Given the description of an element on the screen output the (x, y) to click on. 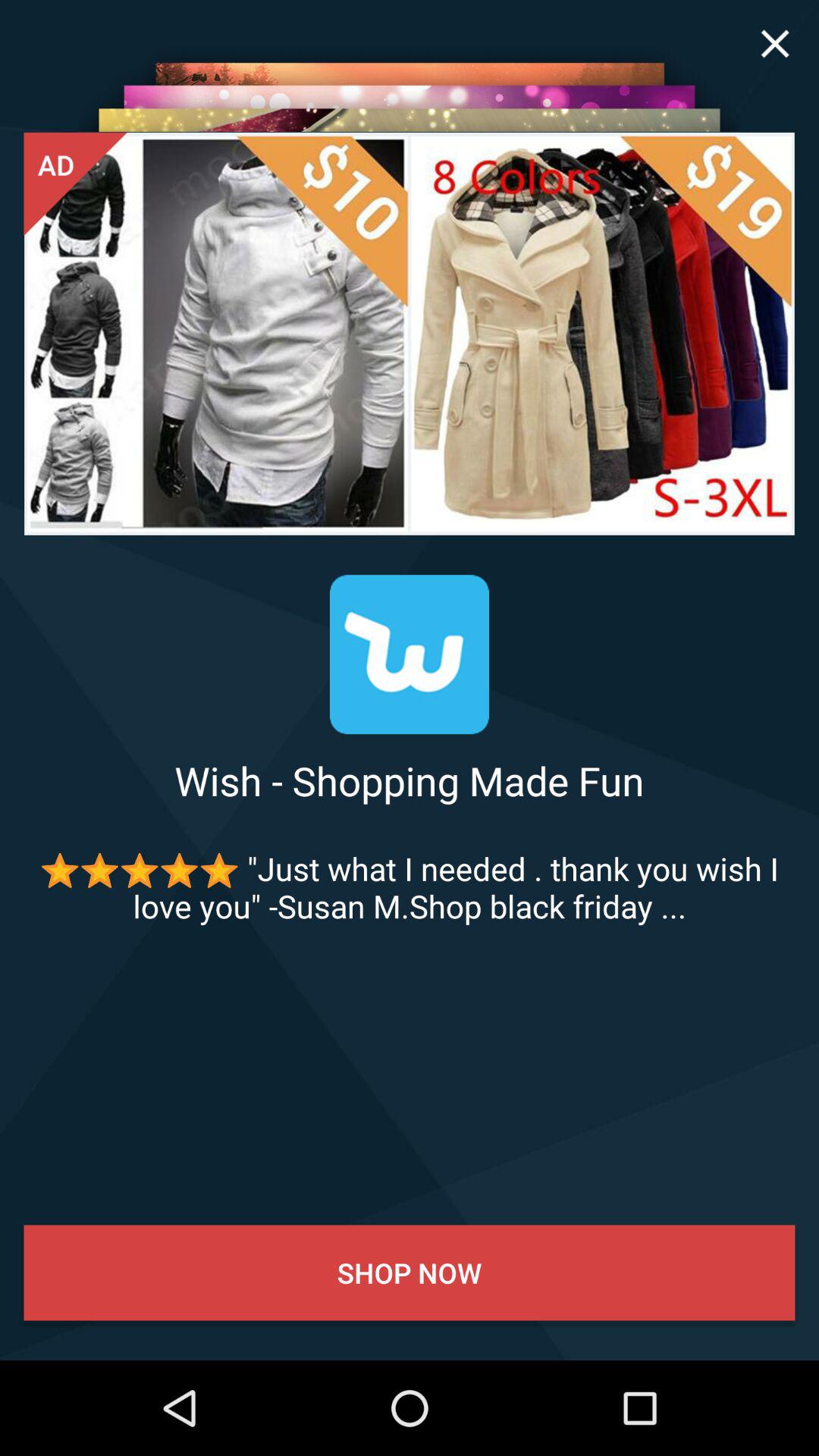
click the just what i item (409, 886)
